Given the description of an element on the screen output the (x, y) to click on. 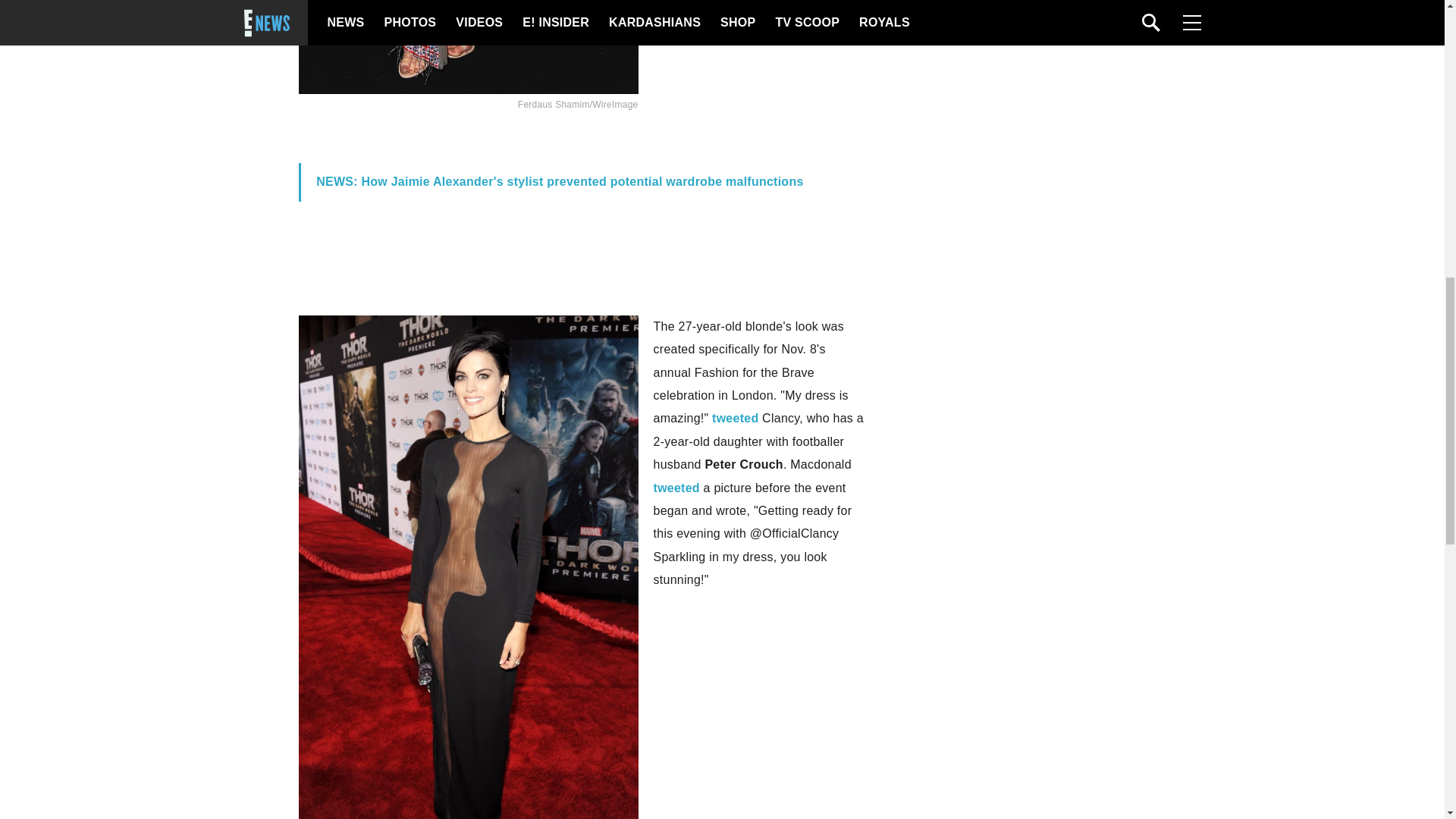
tweeted (676, 487)
tweeted (734, 418)
